Given the description of an element on the screen output the (x, y) to click on. 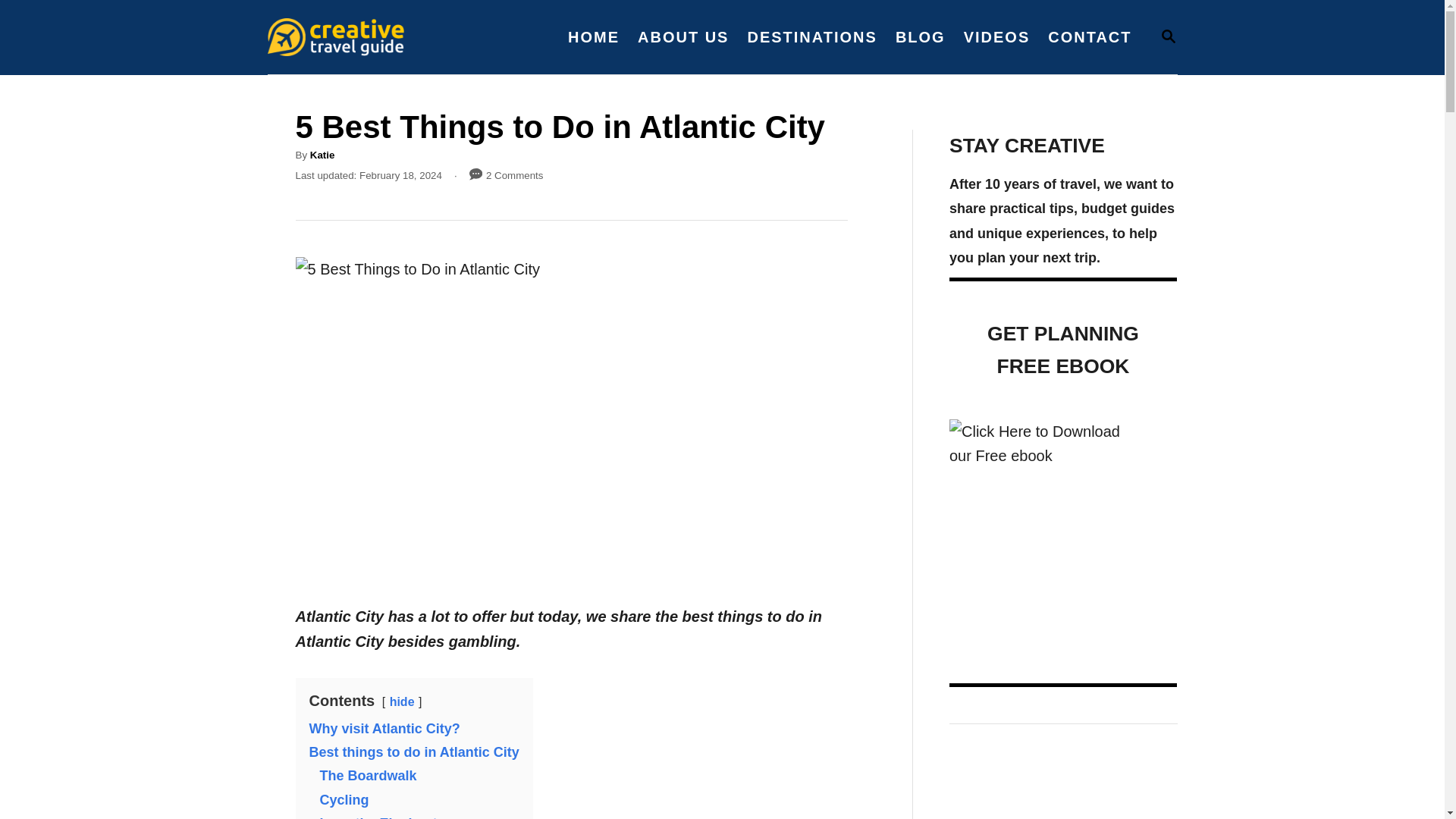
ABOUT US (683, 36)
DESTINATIONS (811, 36)
Lucy the Elephant (1168, 37)
Why visit Atlantic City? (379, 817)
MAGNIFYING GLASS (384, 728)
HOME (1167, 36)
Katie (593, 36)
BLOG (322, 154)
VIDEOS (920, 36)
